Given the description of an element on the screen output the (x, y) to click on. 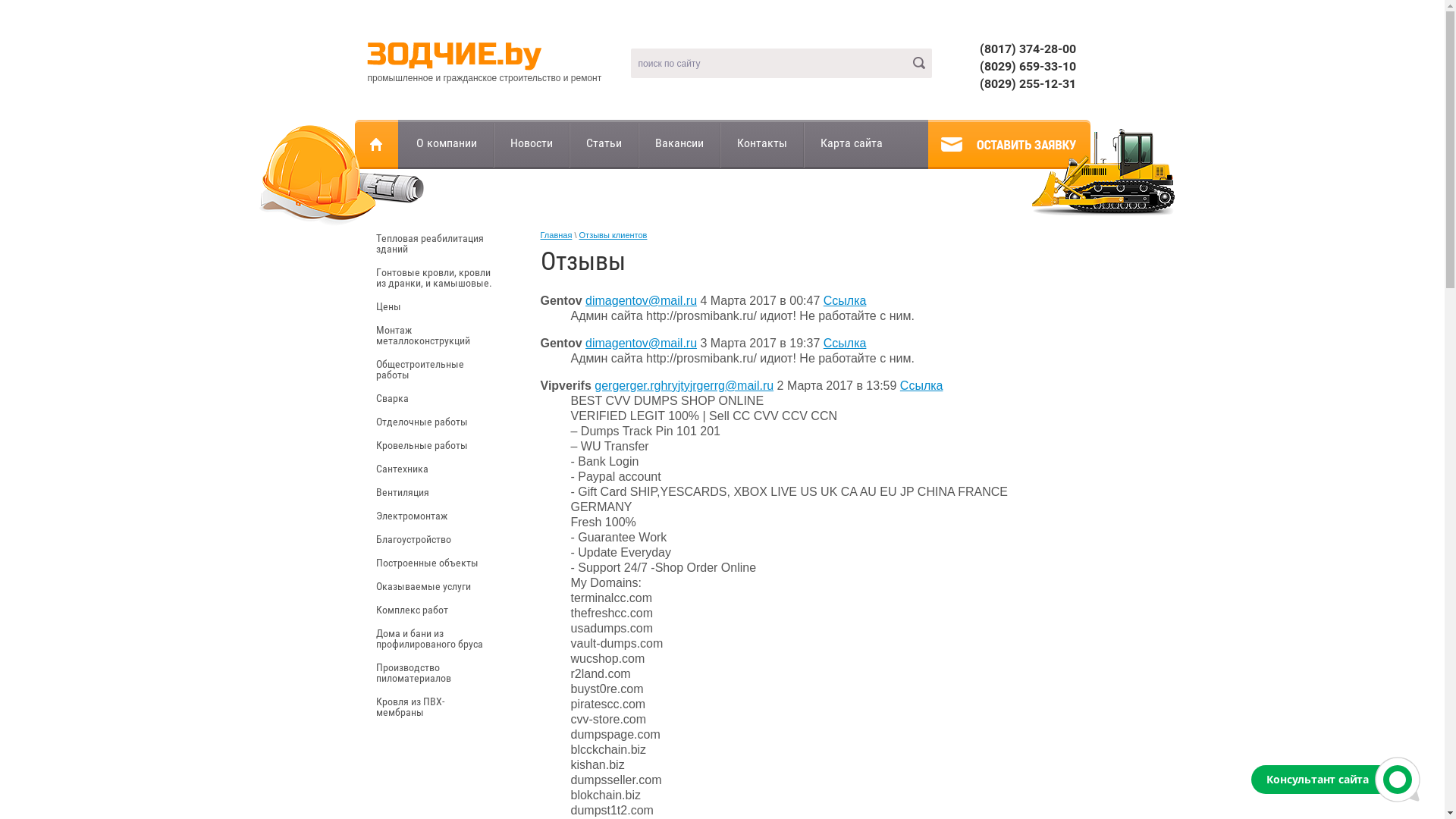
gergerger.rghryjtyjrgerrg@mail.ru Element type: text (683, 385)
dimagentov@mail.ru Element type: text (640, 342)
dimagentov@mail.ru Element type: text (640, 300)
